Given the description of an element on the screen output the (x, y) to click on. 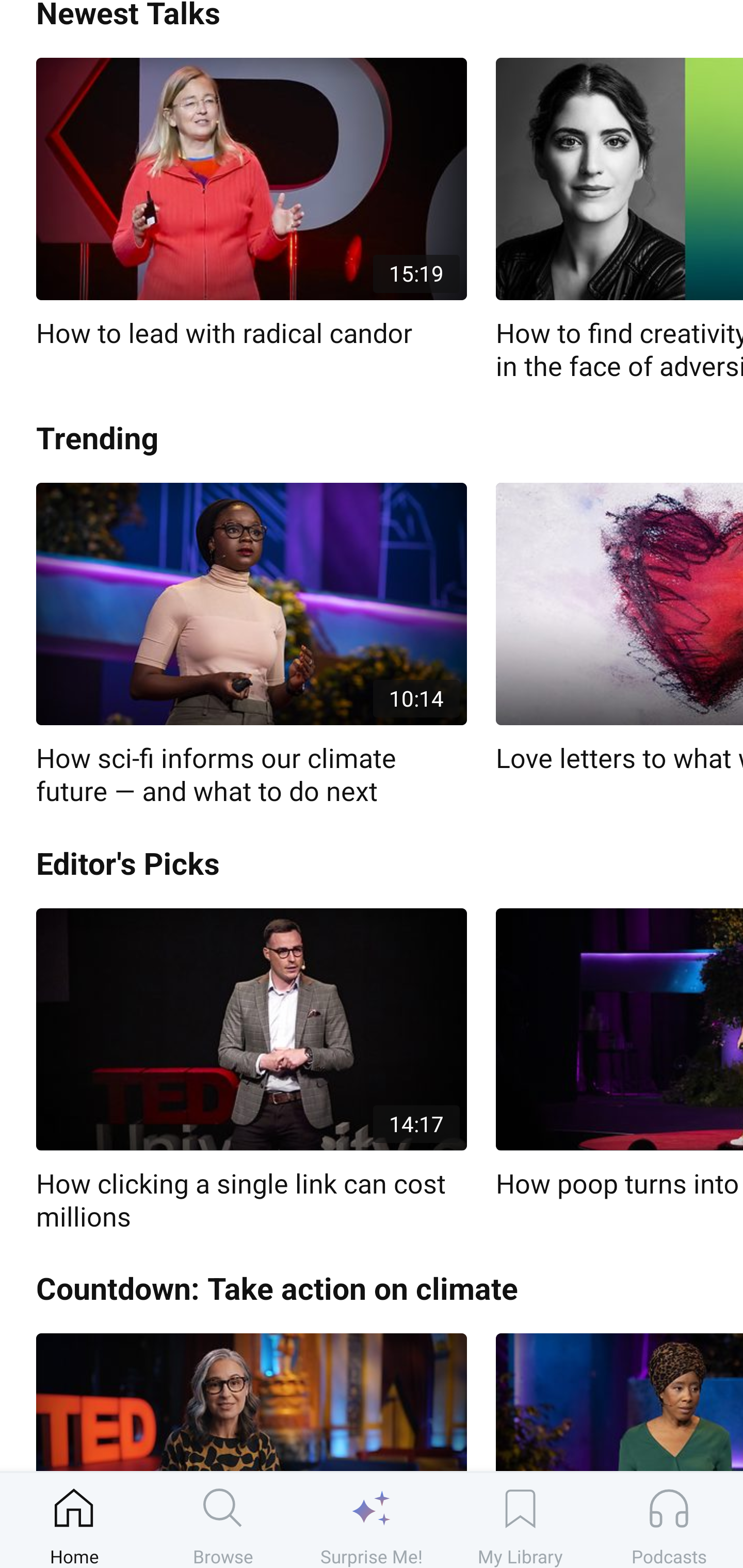
15:19 How to lead with radical candor (251, 204)
Love letters to what we hold dear (619, 629)
14:17 How clicking a single link can cost millions (251, 1070)
How poop turns into forests (619, 1054)
Home (74, 1520)
Browse (222, 1520)
Surprise Me! (371, 1520)
My Library (519, 1520)
Podcasts (668, 1520)
